Given the description of an element on the screen output the (x, y) to click on. 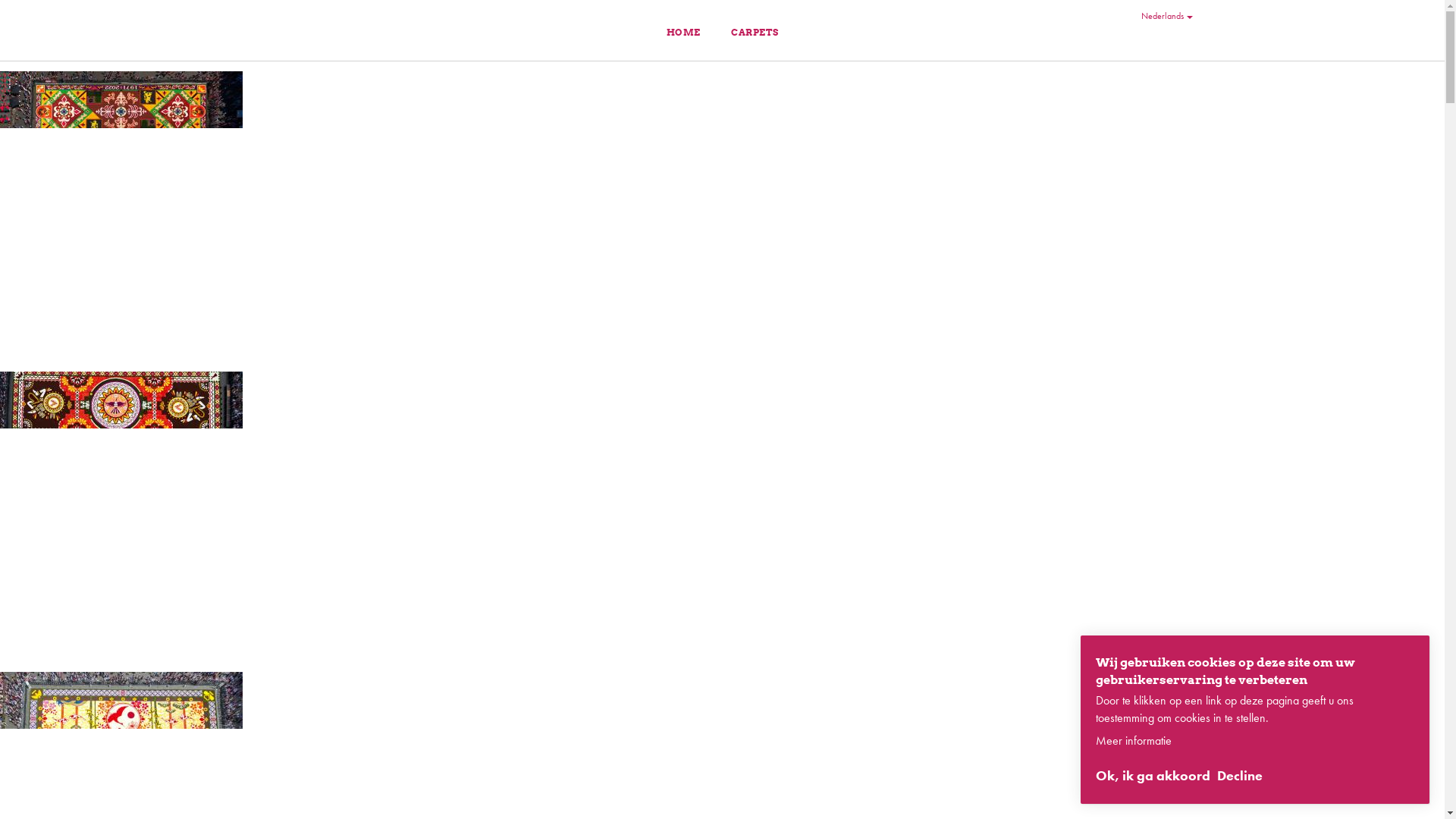
Decline Element type: text (1239, 775)
Skip to main content Element type: text (721, 64)
Ok, ik ga akkoord Element type: text (1152, 775)
HOME Element type: text (683, 31)
CARPETS Element type: text (754, 31)
Meer informatie Element type: text (1133, 740)
